Given the description of an element on the screen output the (x, y) to click on. 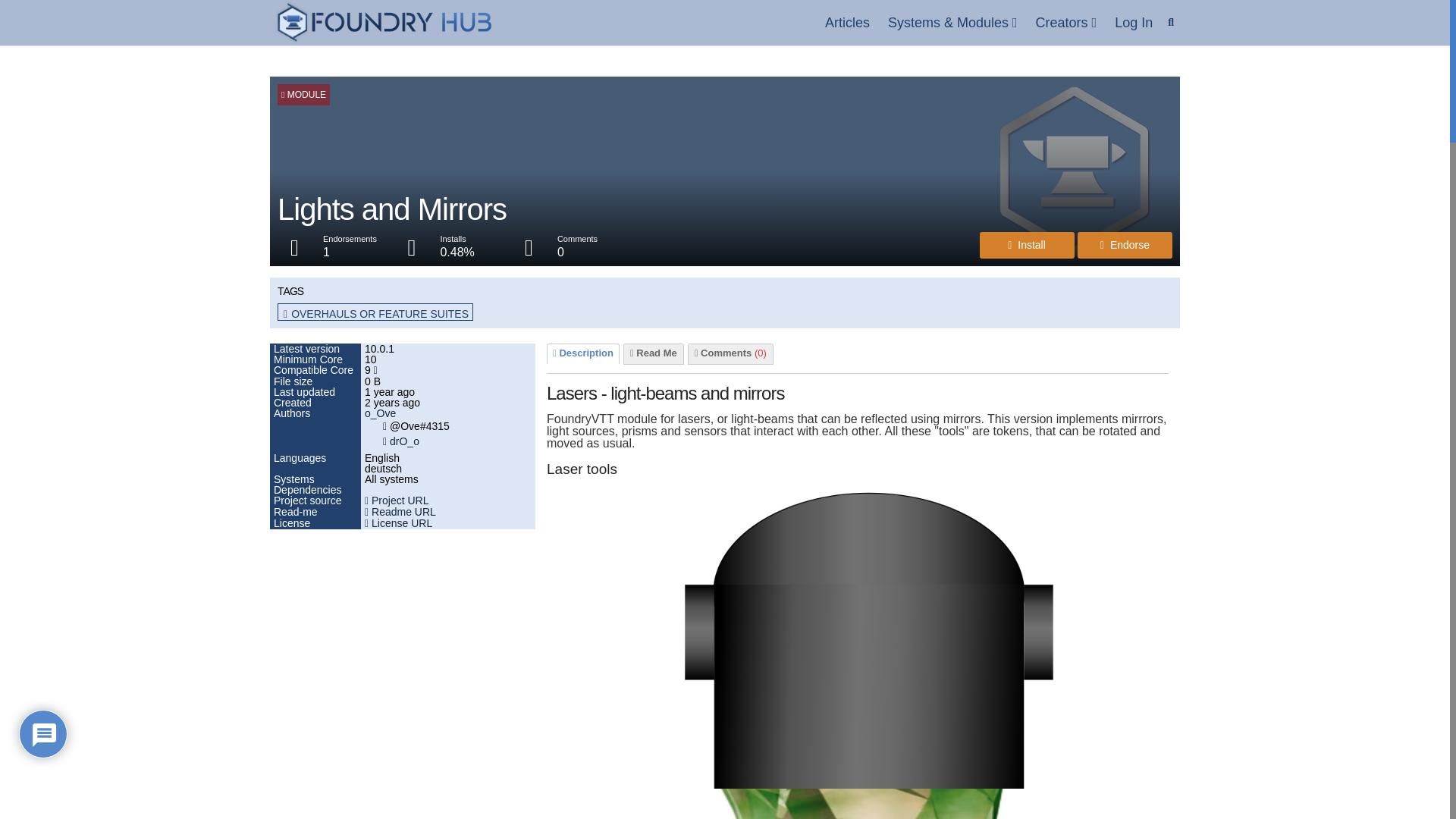
Creators (1066, 22)
Readme URL (400, 511)
Log In (1133, 22)
Articles (847, 22)
Friday 16th of September 2022 12:16:49 PM UTC (448, 391)
Tuesday 29th of March 2022 04:28:17 PM UTC (448, 402)
Project URL (396, 500)
Foundry Hub (383, 22)
Endorse (1124, 244)
Read Me (653, 353)
OVERHAULS OR FEATURE SUITES (374, 313)
License URL (398, 522)
Description (582, 353)
Install (1026, 244)
